Given the description of an element on the screen output the (x, y) to click on. 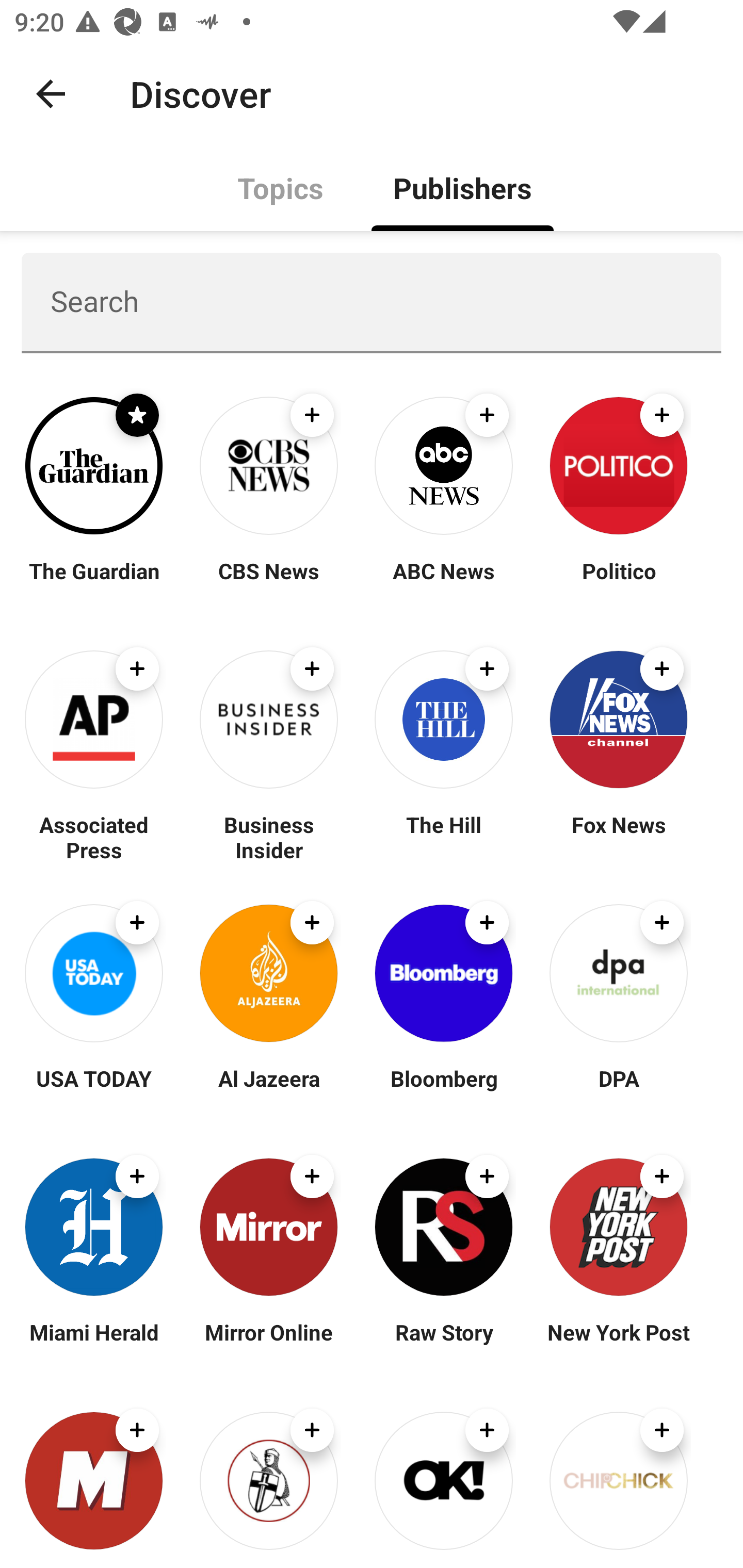
Topics (280, 187)
Search (371, 302)
The Guardian (93, 582)
CBS News (268, 582)
ABC News (443, 582)
Politico (618, 582)
Associated Press (93, 836)
Business Insider (268, 836)
The Hill (443, 836)
Fox News (618, 836)
USA TODAY (93, 1090)
Al Jazeera (268, 1090)
Bloomberg (443, 1090)
DPA (618, 1090)
Miami Herald (93, 1344)
Mirror Online (268, 1344)
Raw Story (443, 1344)
New York Post (618, 1344)
